Given the description of an element on the screen output the (x, y) to click on. 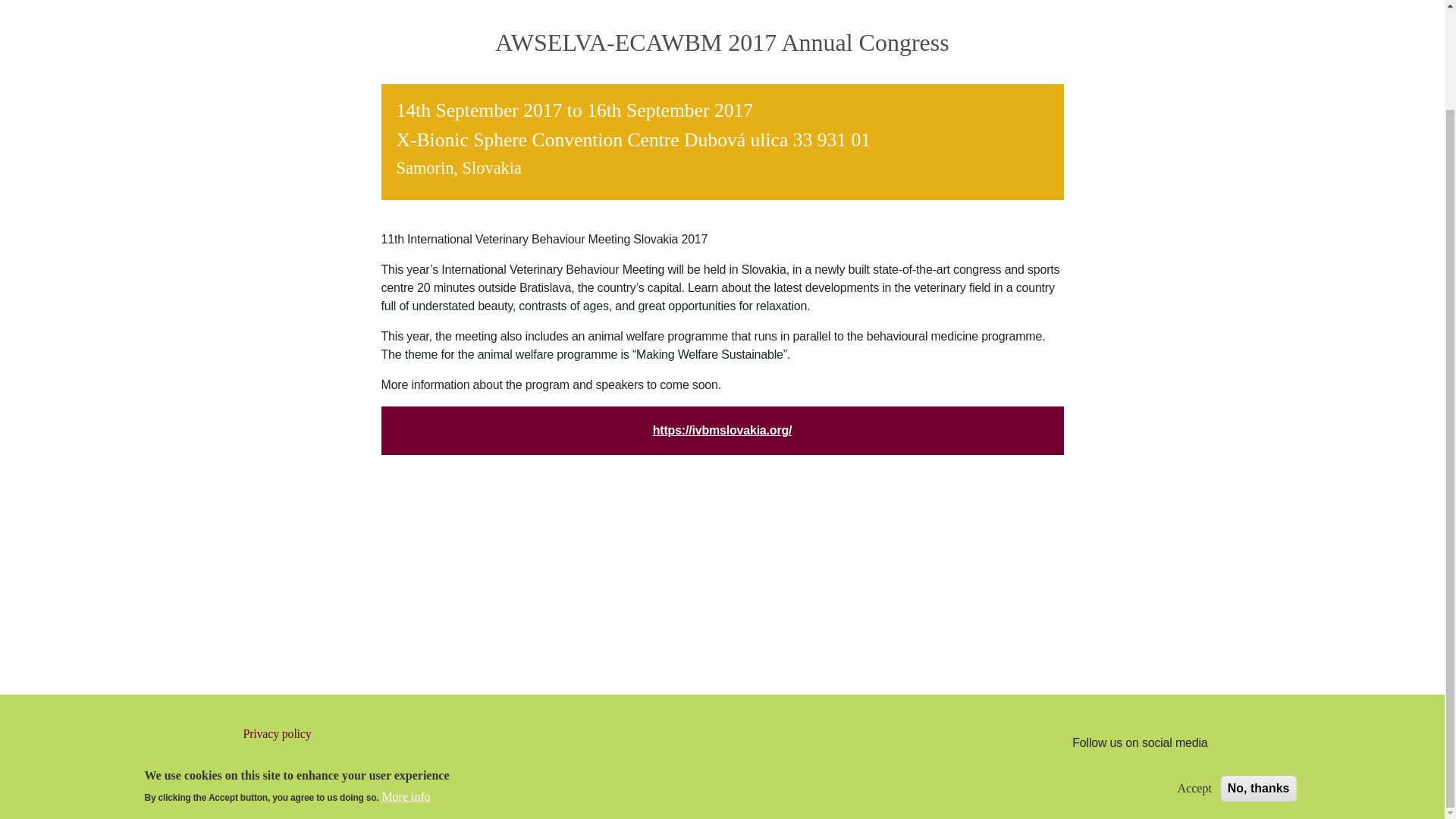
More info (405, 681)
No, thanks (1259, 673)
Accept (1194, 673)
Privacy policy (453, 734)
